Given the description of an element on the screen output the (x, y) to click on. 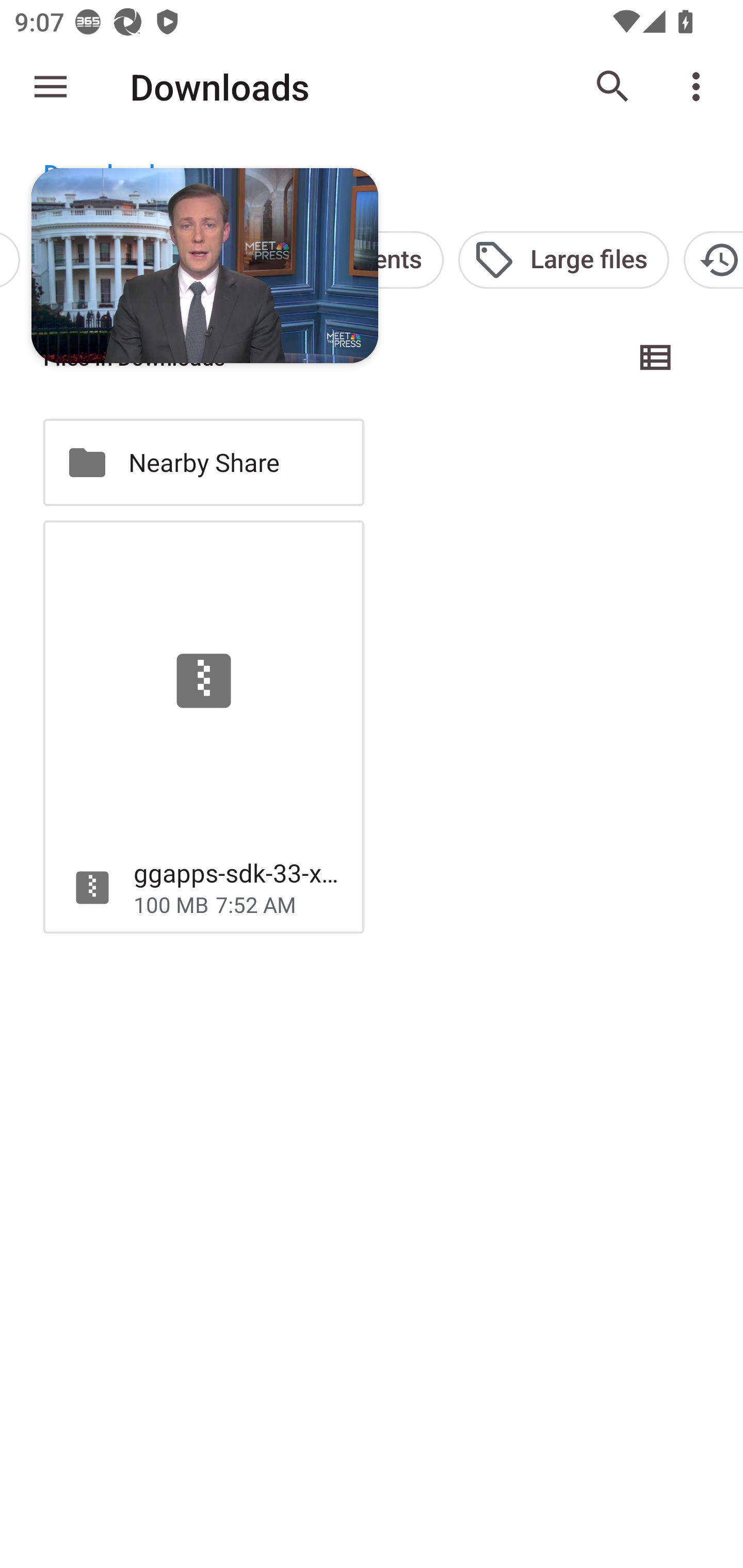
Show roots (50, 86)
Search (612, 86)
More options (699, 86)
Large files (563, 259)
List view (655, 357)
Nearby Share (203, 462)
ggapps-sdk-33-x86_64-20231003.zip 100 MB 7:52 AM (203, 726)
